Given the description of an element on the screen output the (x, y) to click on. 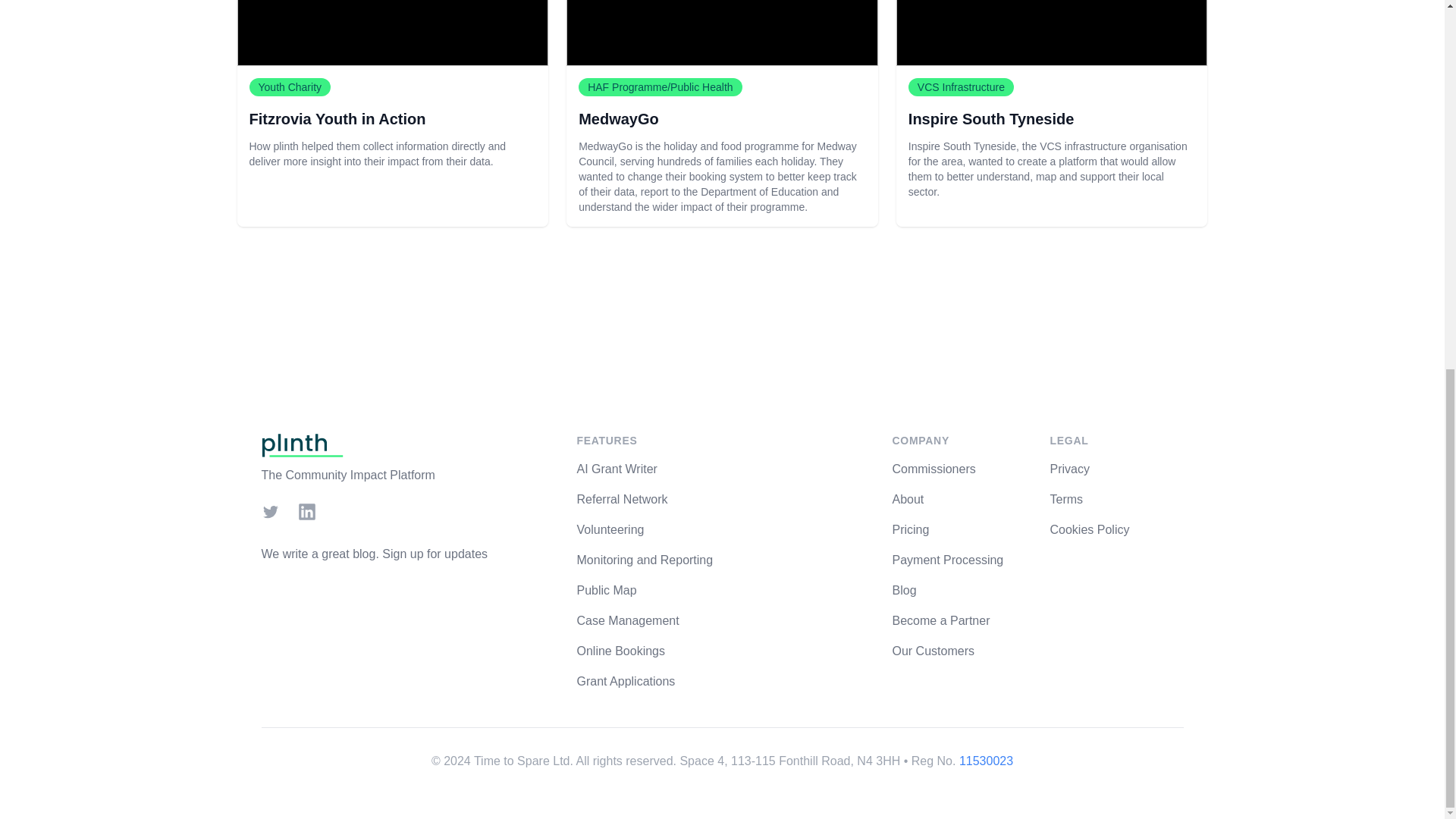
AI Grant Writer (616, 468)
Payment Processing (947, 559)
Blog (903, 590)
Twitter (269, 511)
Pricing (909, 529)
Cookies Policy (1089, 529)
LinkedIn (306, 511)
Public Map (606, 590)
Grant Applications (625, 680)
